Given the description of an element on the screen output the (x, y) to click on. 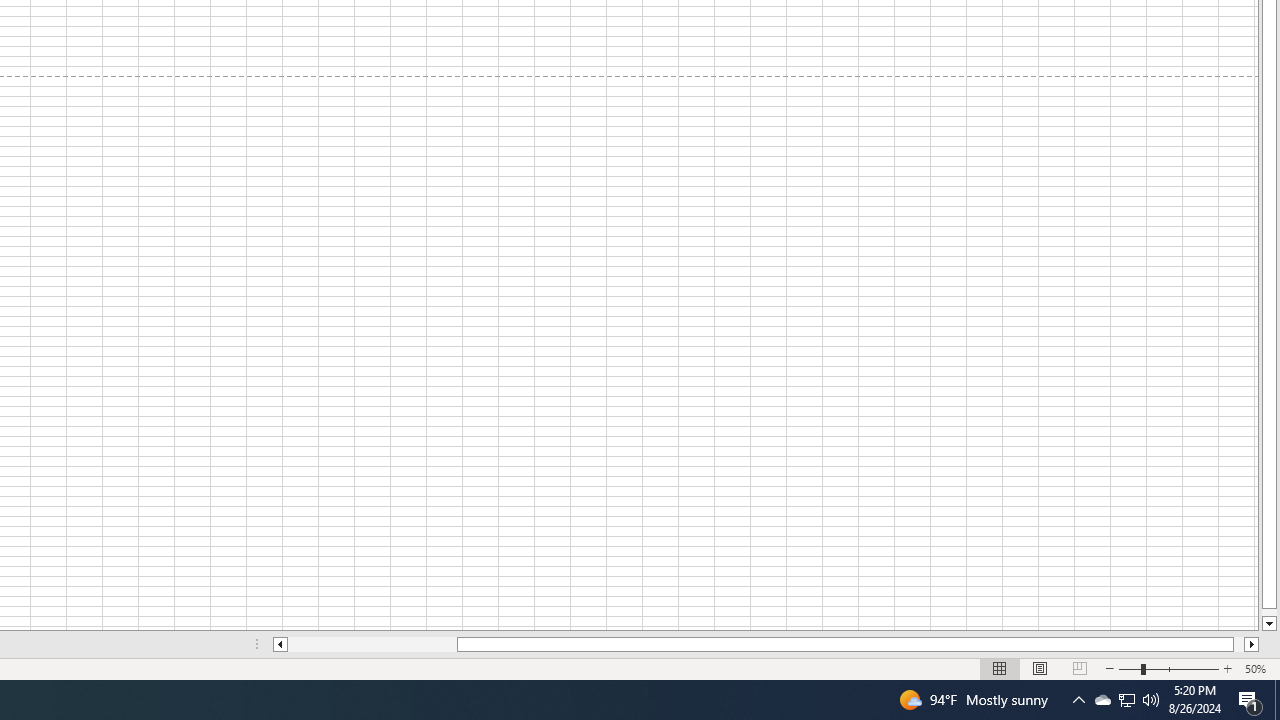
Zoom Out (1129, 668)
Page right (1238, 644)
Column left (279, 644)
Column right (1252, 644)
Page down (1268, 612)
Class: NetUIScrollBar (765, 644)
Page left (372, 644)
Line down (1268, 624)
Page Break Preview (1079, 668)
Zoom In (1227, 668)
Zoom (1168, 668)
Normal (1000, 668)
